Given the description of an element on the screen output the (x, y) to click on. 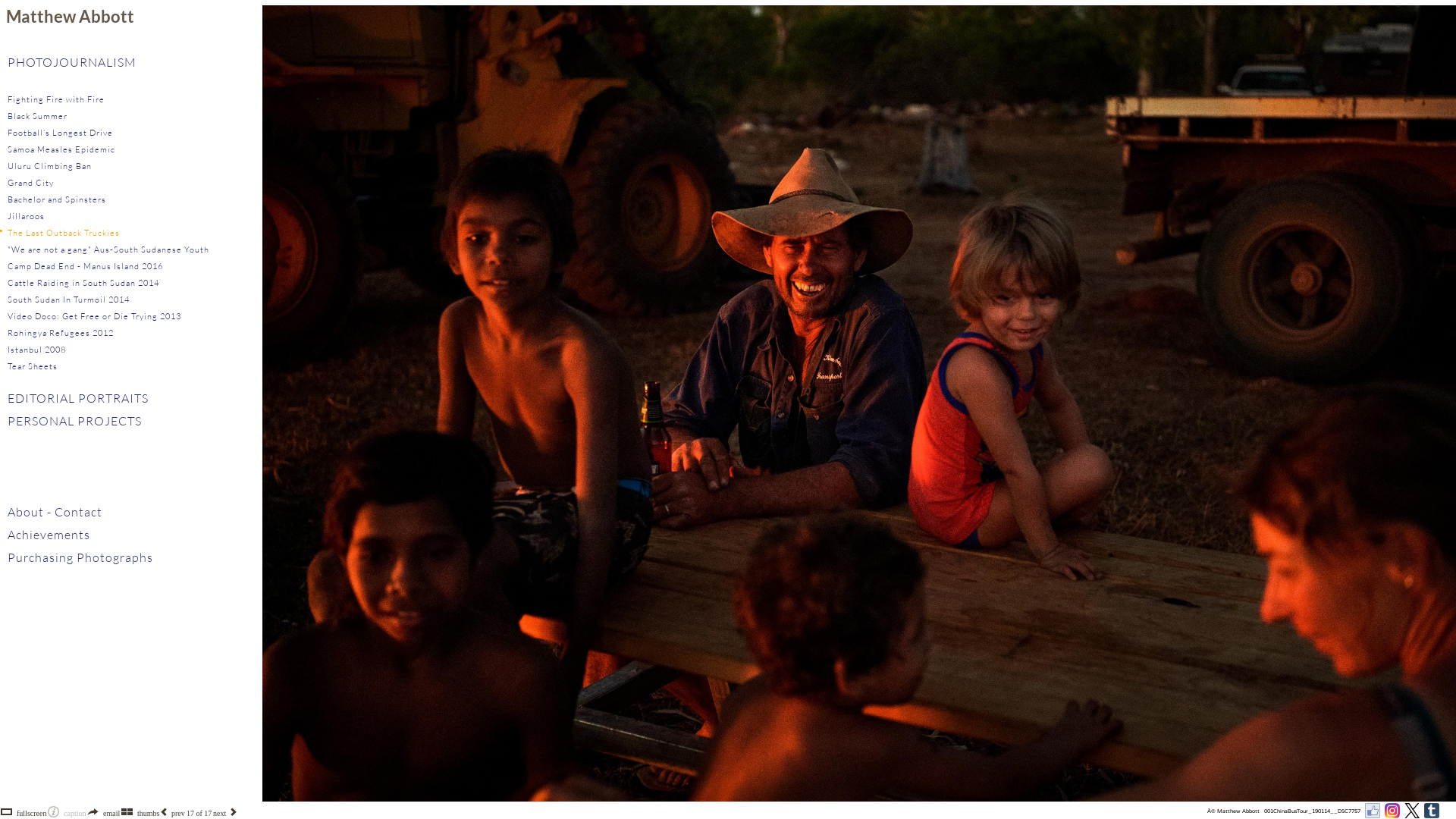
Camp Dead End - Manus Island 2016 Element type: text (85, 265)
Jillaroos Element type: text (25, 215)
PHOTOJOURNALISM Element type: text (71, 61)
EDITORIAL PORTRAITS Element type: text (77, 397)
Tear Sheets Element type: text (32, 365)
Achievements Element type: text (48, 534)
South Sudan In Turmoil 2014 Element type: text (68, 299)
email Element type: text (111, 812)
Istanbul 2008 Element type: text (36, 349)
thumbs Element type: text (148, 812)
Bachelor and Spinsters Element type: text (56, 199)
caption Element type: text (74, 812)
Rohingya Refugees 2012 Element type: text (60, 332)
prev Element type: text (178, 812)
Grand City Element type: text (30, 182)
fullscreen Element type: text (31, 812)
PERSONAL PROJECTS Element type: text (74, 420)
Purchasing Photographs Element type: text (80, 556)
Uluru Climbing Ban Element type: text (49, 165)
The Last Outback Truckies Element type: text (63, 232)
"We are not a gang" Aus-South Sudanese Youth Element type: text (108, 249)
Black Summer Element type: text (37, 115)
17 of 17 Element type: text (198, 812)
Samoa Measles Epidemic Element type: text (61, 149)
next Element type: text (219, 812)
Cattle Raiding in South Sudan 2014 Element type: text (83, 282)
Fighting Fire with Fire Element type: text (55, 99)
Video Doco: Get Free or Die Trying 2013 Element type: text (94, 315)
About - Contact Element type: text (54, 511)
